Given the description of an element on the screen output the (x, y) to click on. 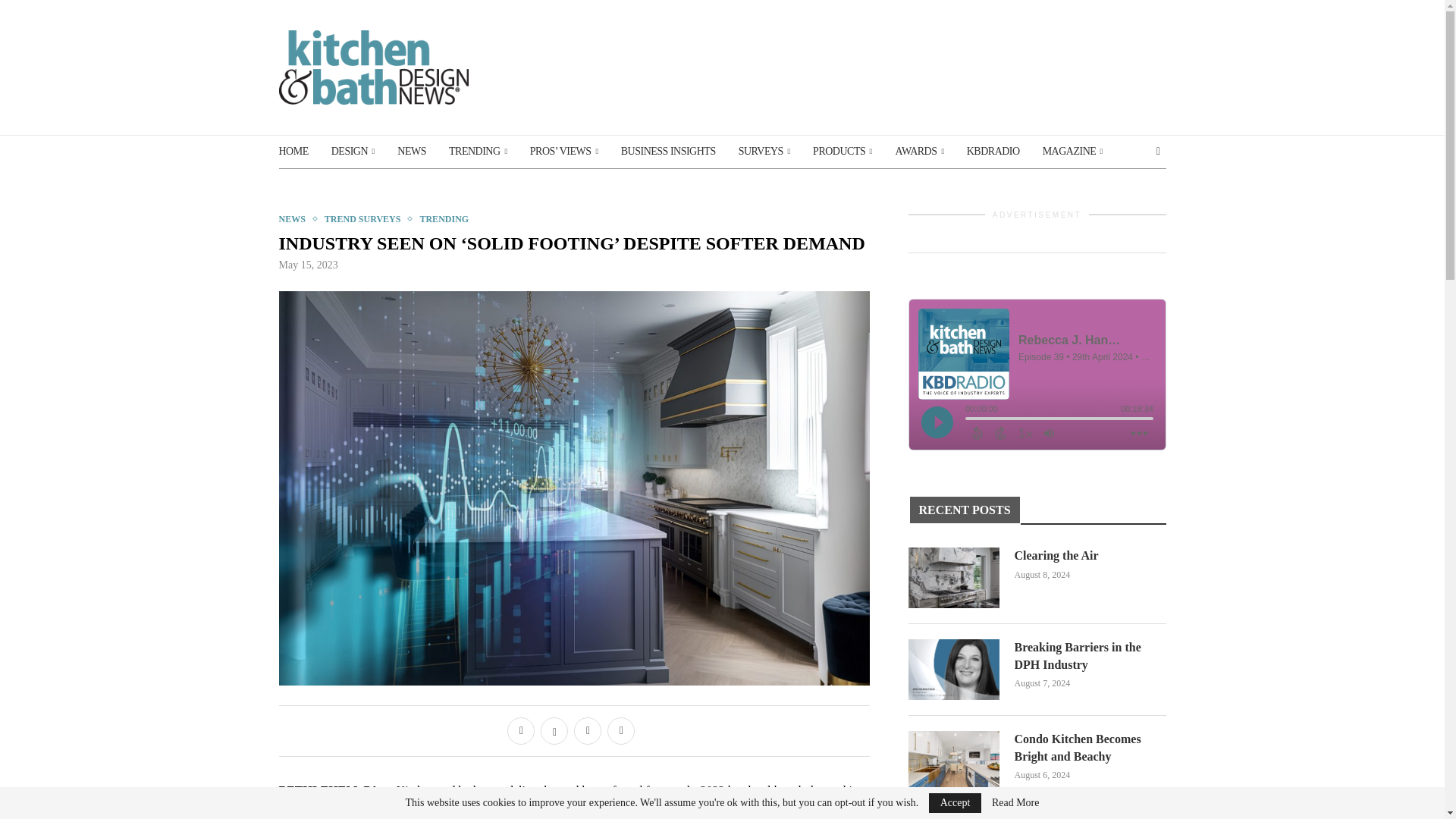
AWARDS (919, 151)
Breaking Barriers in the DPH Industry (1090, 656)
Breaking Barriers in the DPH Industry (953, 669)
Clearing the Air (1090, 555)
BUSINESS INSIGHTS (668, 151)
SURVEYS (764, 151)
PRODUCTS (842, 151)
TRENDING (477, 151)
HOME (293, 151)
Clearing the Air (953, 577)
